Given the description of an element on the screen output the (x, y) to click on. 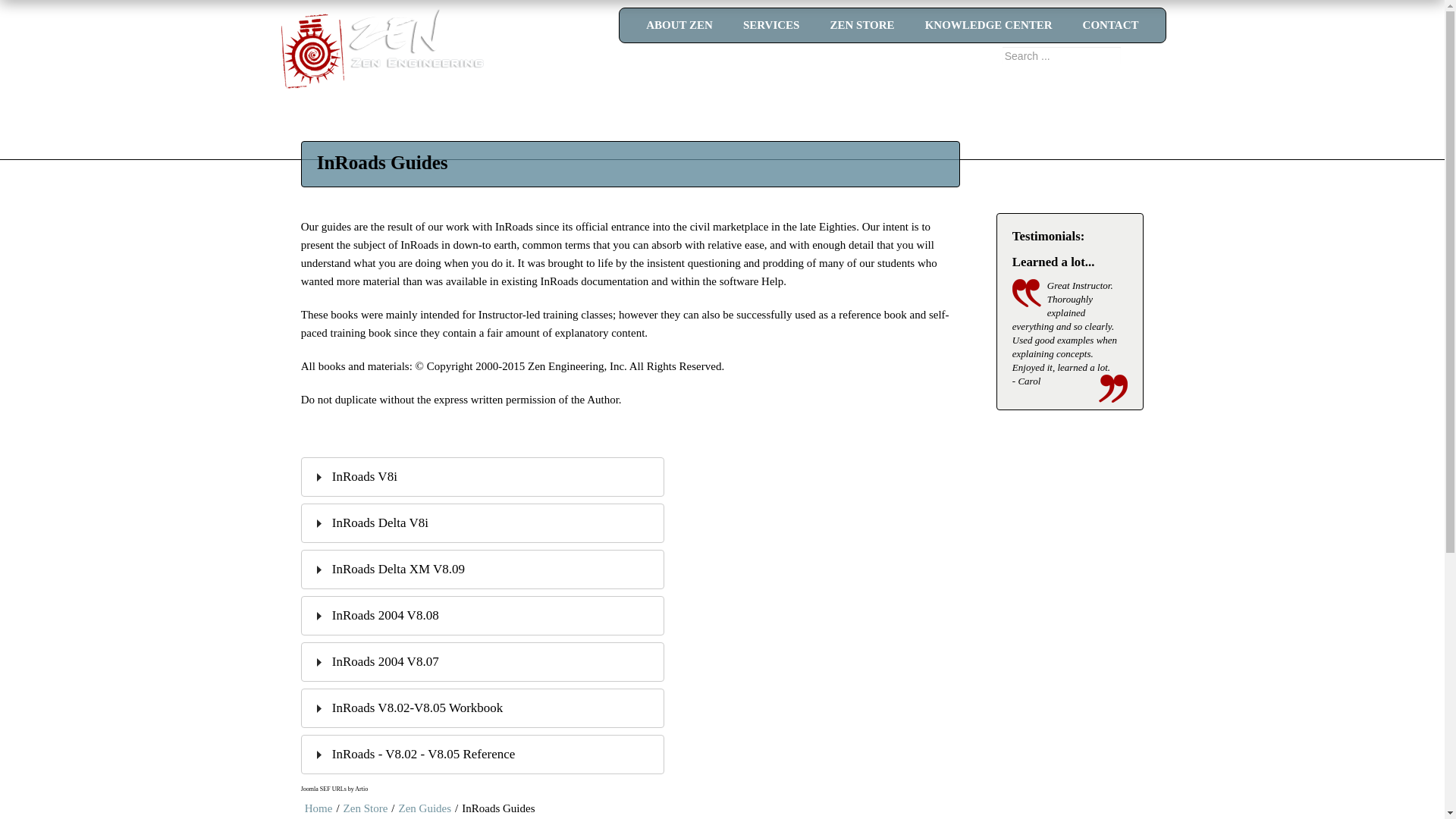
ABOUT ZEN (679, 25)
SERVICES (771, 25)
